Given the description of an element on the screen output the (x, y) to click on. 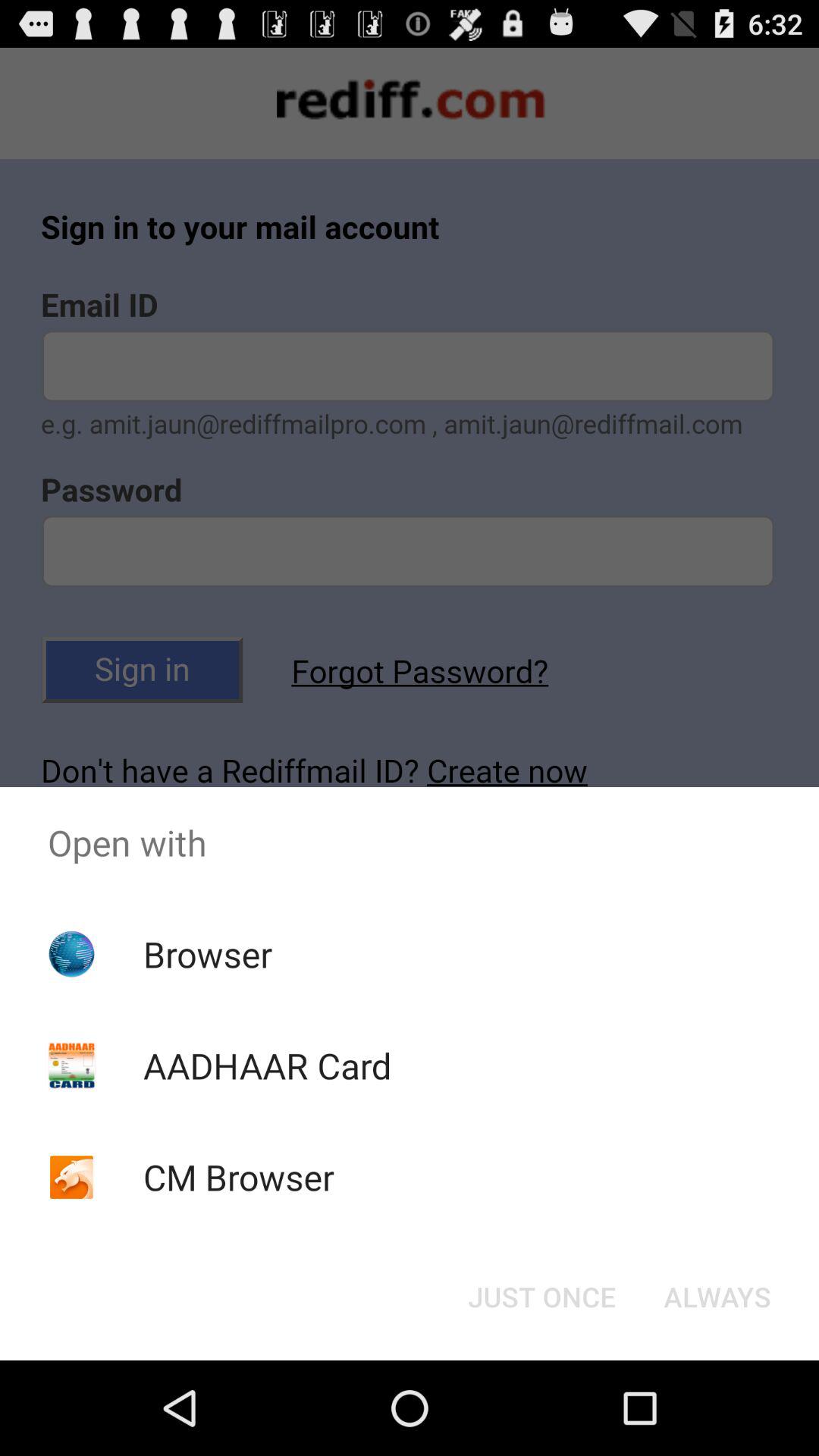
turn on the item at the bottom right corner (717, 1296)
